Given the description of an element on the screen output the (x, y) to click on. 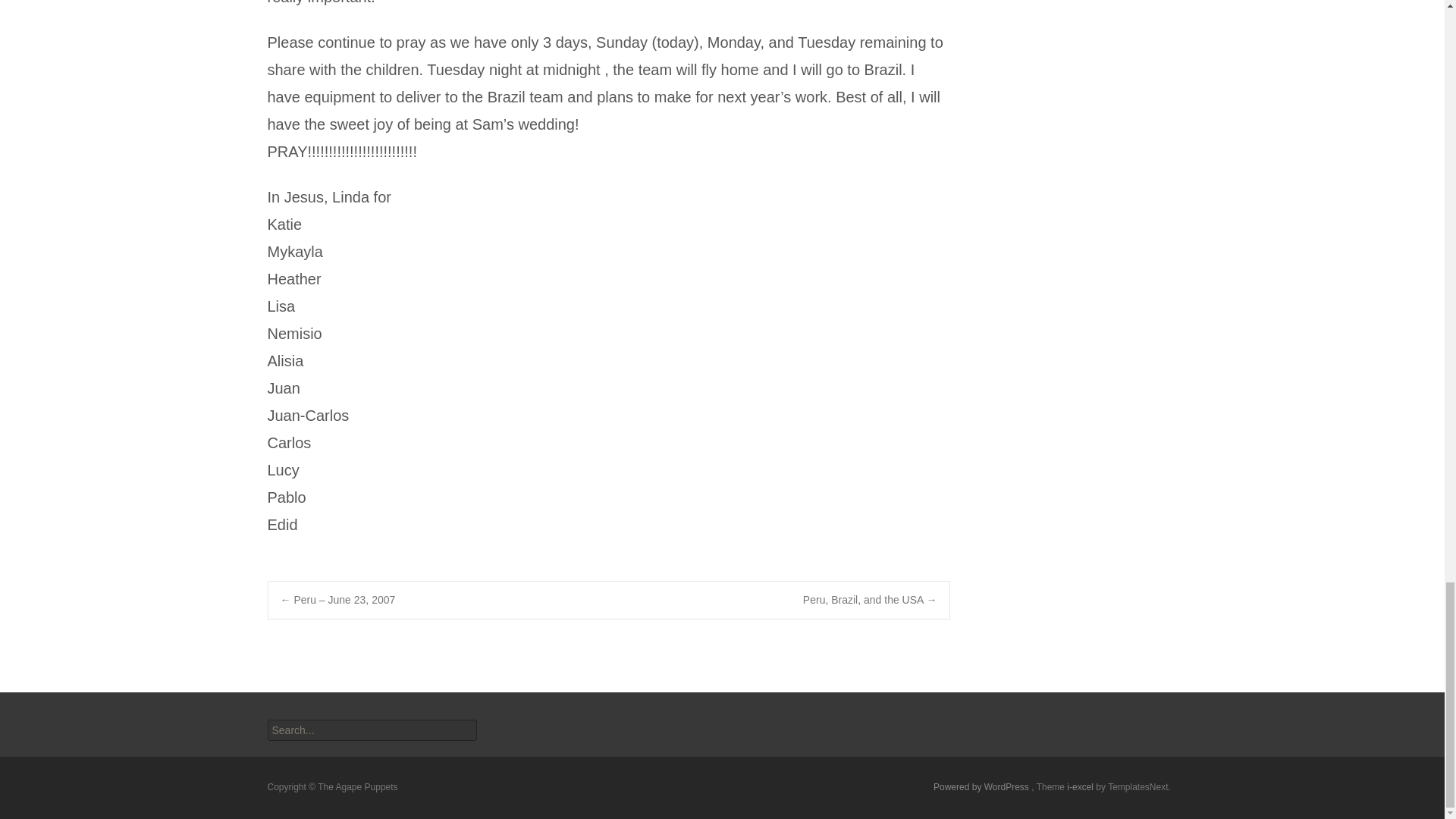
Semantic Personal Publishing Platform (981, 787)
Search for: (371, 730)
i-excel (1081, 787)
Multipurpose Business WooCommerce Theme (1081, 787)
Powered by WordPress (981, 787)
